Given the description of an element on the screen output the (x, y) to click on. 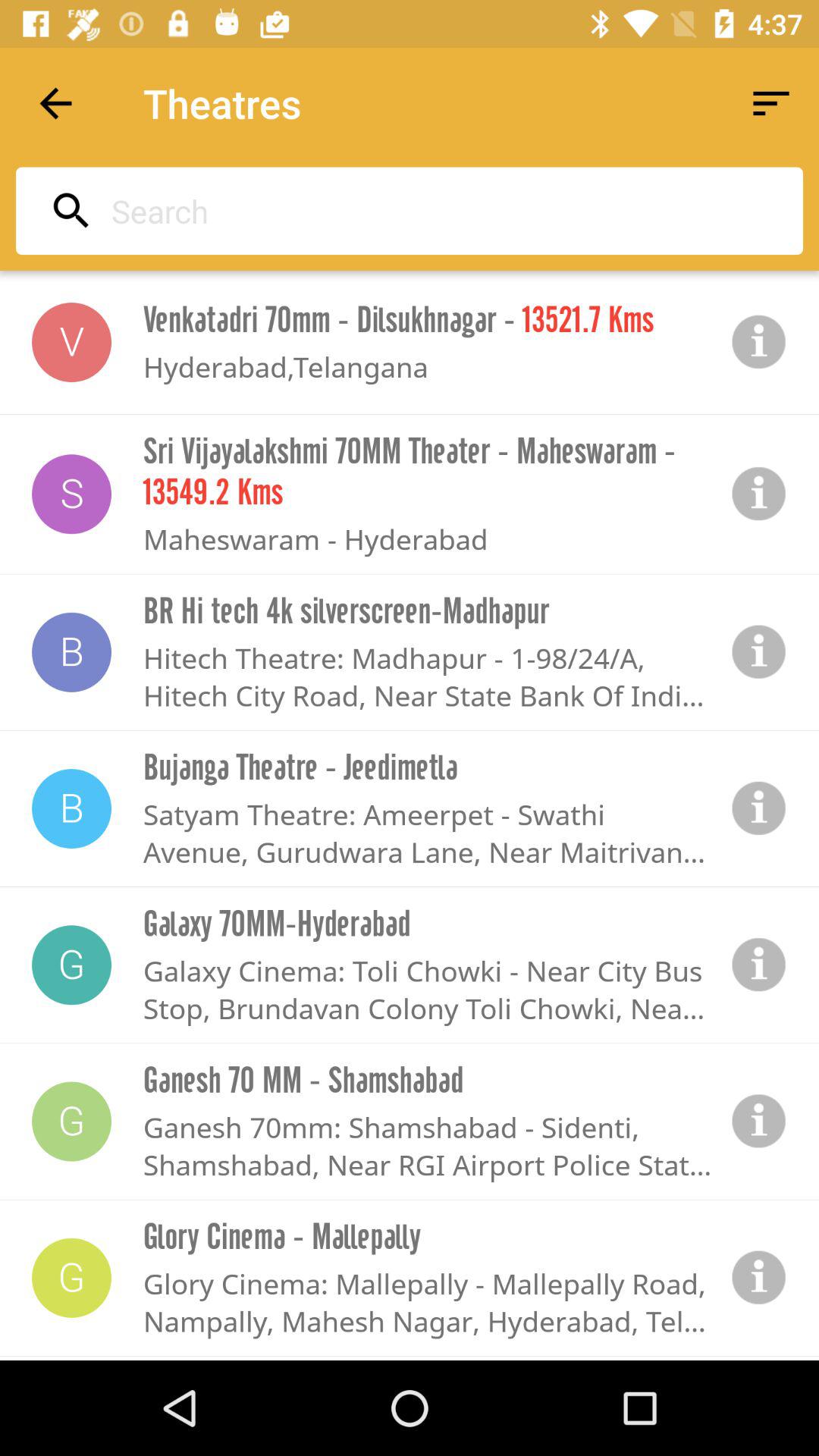
information (759, 494)
